Given the description of an element on the screen output the (x, y) to click on. 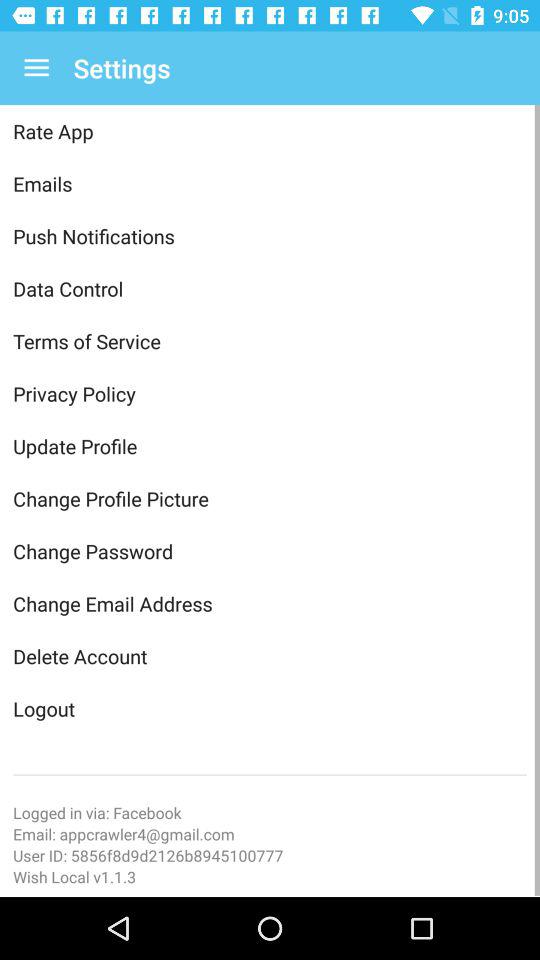
flip until the data control icon (269, 288)
